Given the description of an element on the screen output the (x, y) to click on. 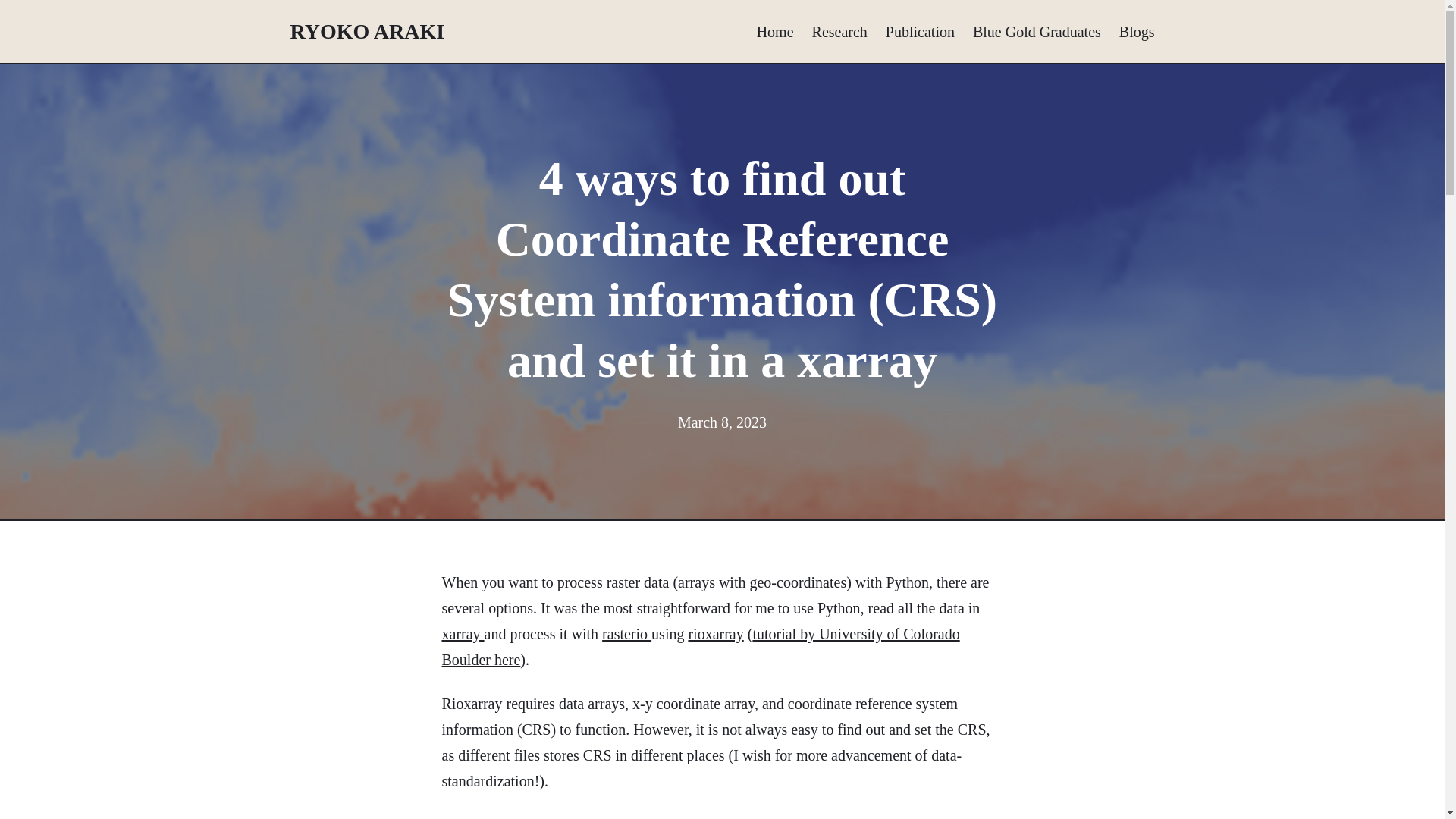
Blogs (1136, 31)
Blue Gold Graduates (1036, 31)
Home (775, 31)
tutorial by University of Colorado Boulder here (700, 646)
rioxarray (714, 633)
rasterio (626, 633)
Research (839, 31)
RYOKO ARAKI (366, 31)
xarray (462, 633)
Publication (920, 31)
